Given the description of an element on the screen output the (x, y) to click on. 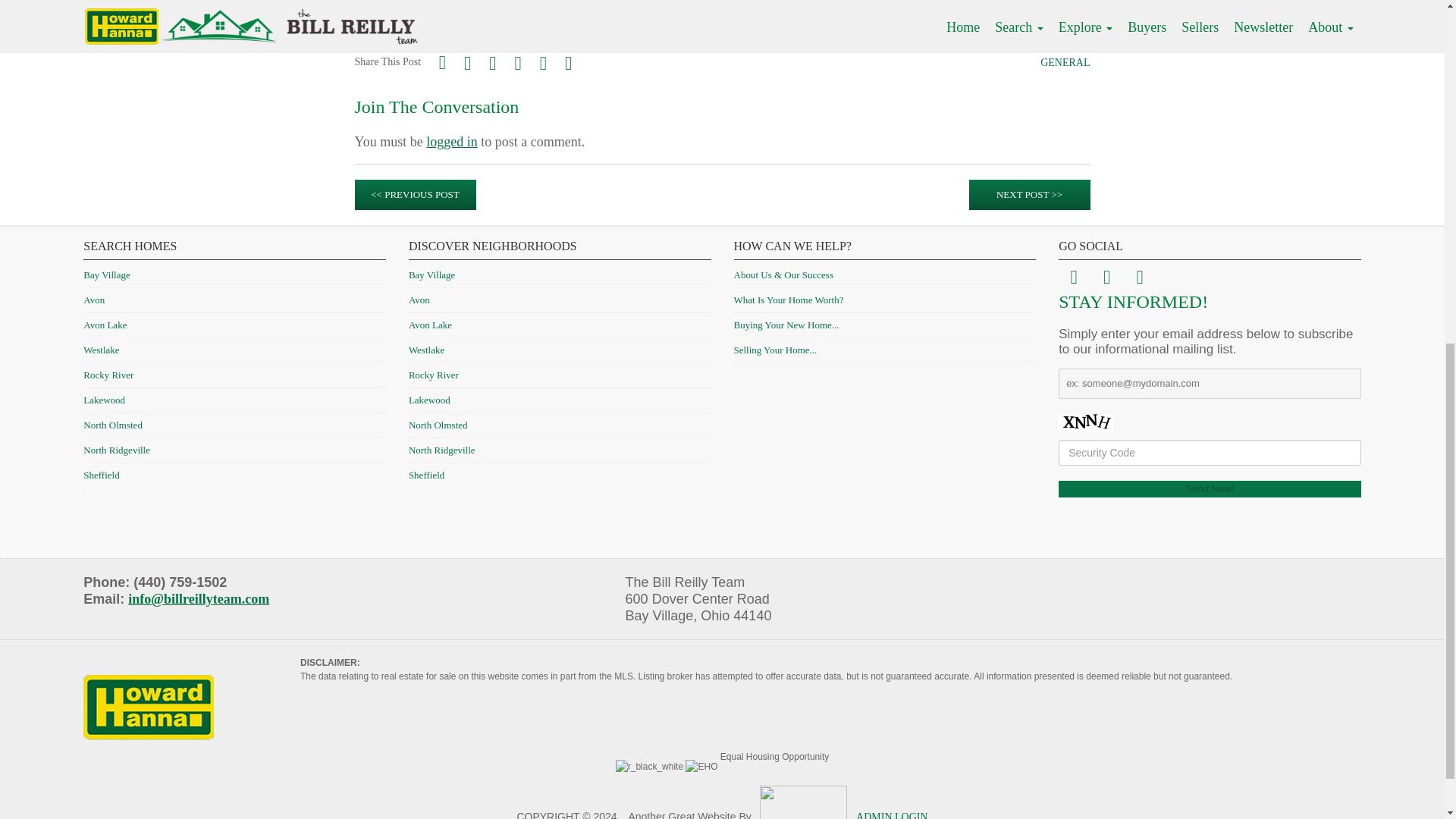
Avon Lake (104, 324)
Rocky River (107, 374)
Westlake (100, 349)
Lakewood (103, 399)
Send Now! (1209, 488)
Share on LinkedIn (568, 62)
Virtual Results (1003, 24)
logged in (451, 141)
GENERAL (1065, 61)
Bay Village (105, 274)
Avon (93, 299)
